Given the description of an element on the screen output the (x, y) to click on. 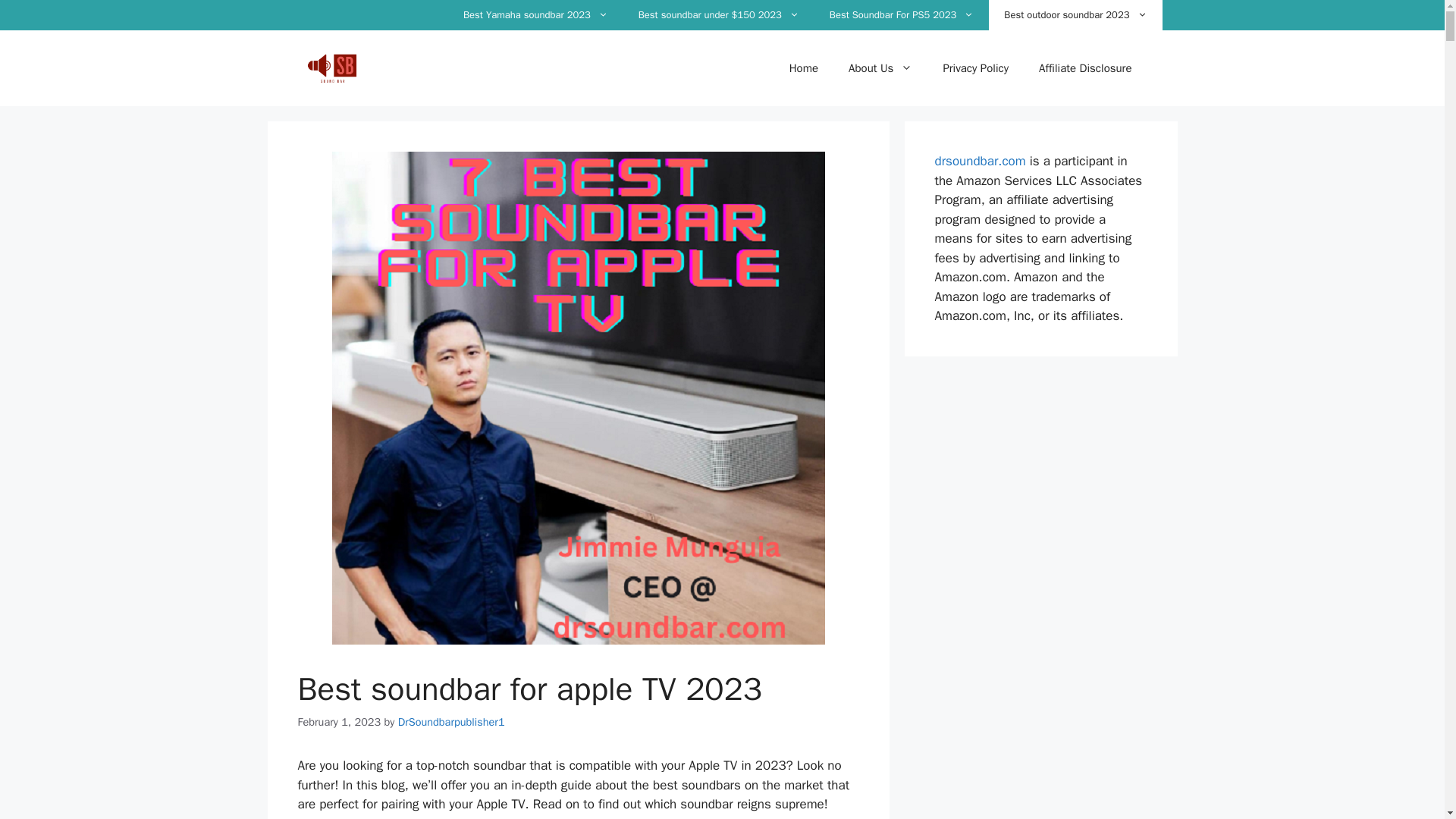
View all posts by DrSoundbarpublisher1 (451, 721)
DrSoundbarpublisher1 (451, 721)
Best outdoor soundbar 2023 (1074, 15)
Home (803, 67)
Privacy Policy (975, 67)
Affiliate Disclosure (1085, 67)
Best Soundbar For PS5 2023 (901, 15)
Best Yamaha soundbar 2023 (535, 15)
About Us (879, 67)
